Given the description of an element on the screen output the (x, y) to click on. 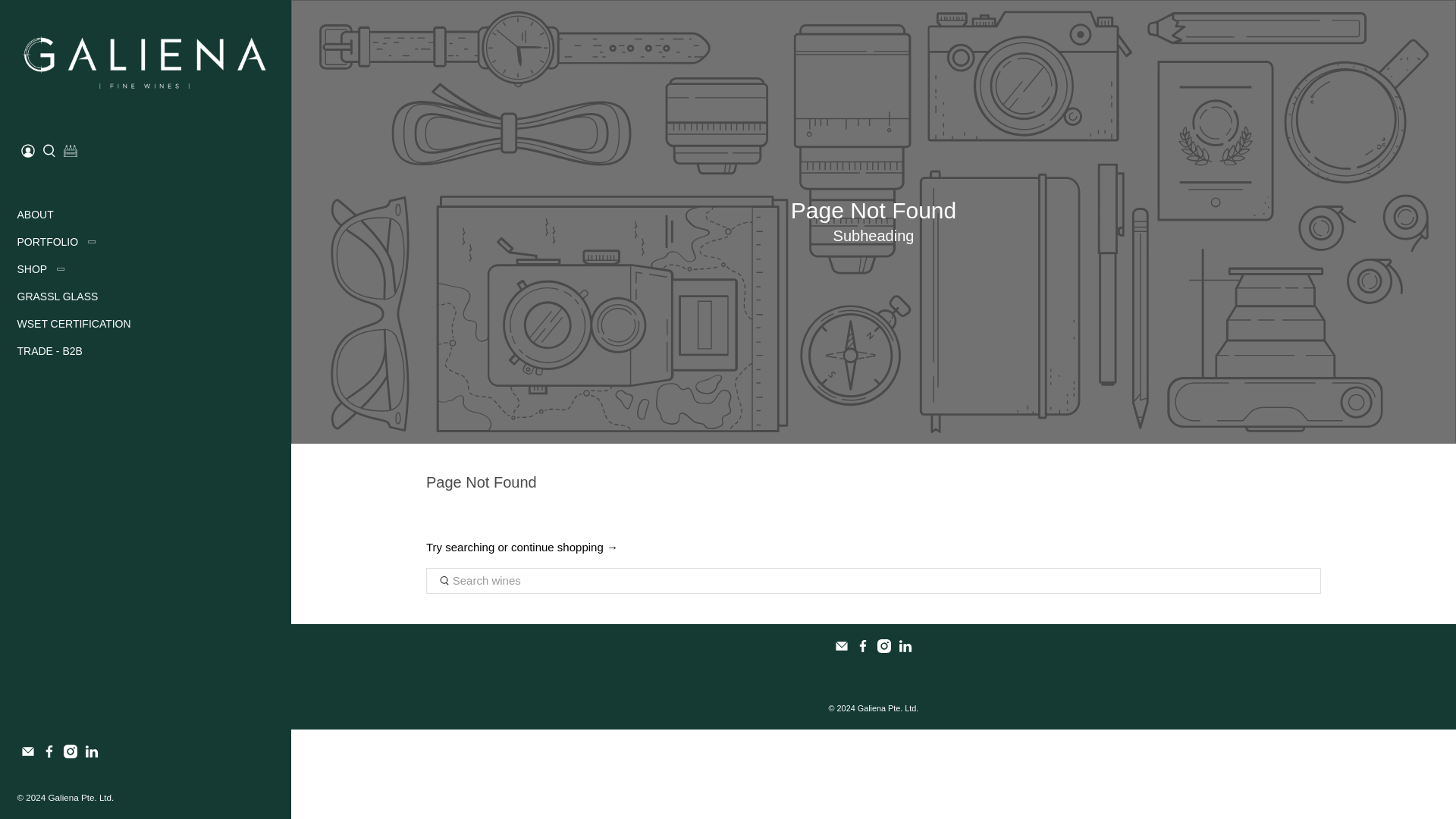
WSET CERTIFICATION (77, 329)
PORTFOLIO (60, 247)
Galiena Pte. Ltd on Instagram (69, 754)
SHOP (45, 275)
Email Galiena Pte. Ltd (26, 754)
ABOUT (38, 220)
Galiena Pte. Ltd on LinkedIn (90, 754)
Galiena Pte. Ltd on Facebook (48, 754)
TRADE - B2B (53, 357)
Galiena Pte. Ltd (143, 60)
GRASSL GLASS (61, 302)
Galiena Pte. Ltd (80, 796)
